Given the description of an element on the screen output the (x, y) to click on. 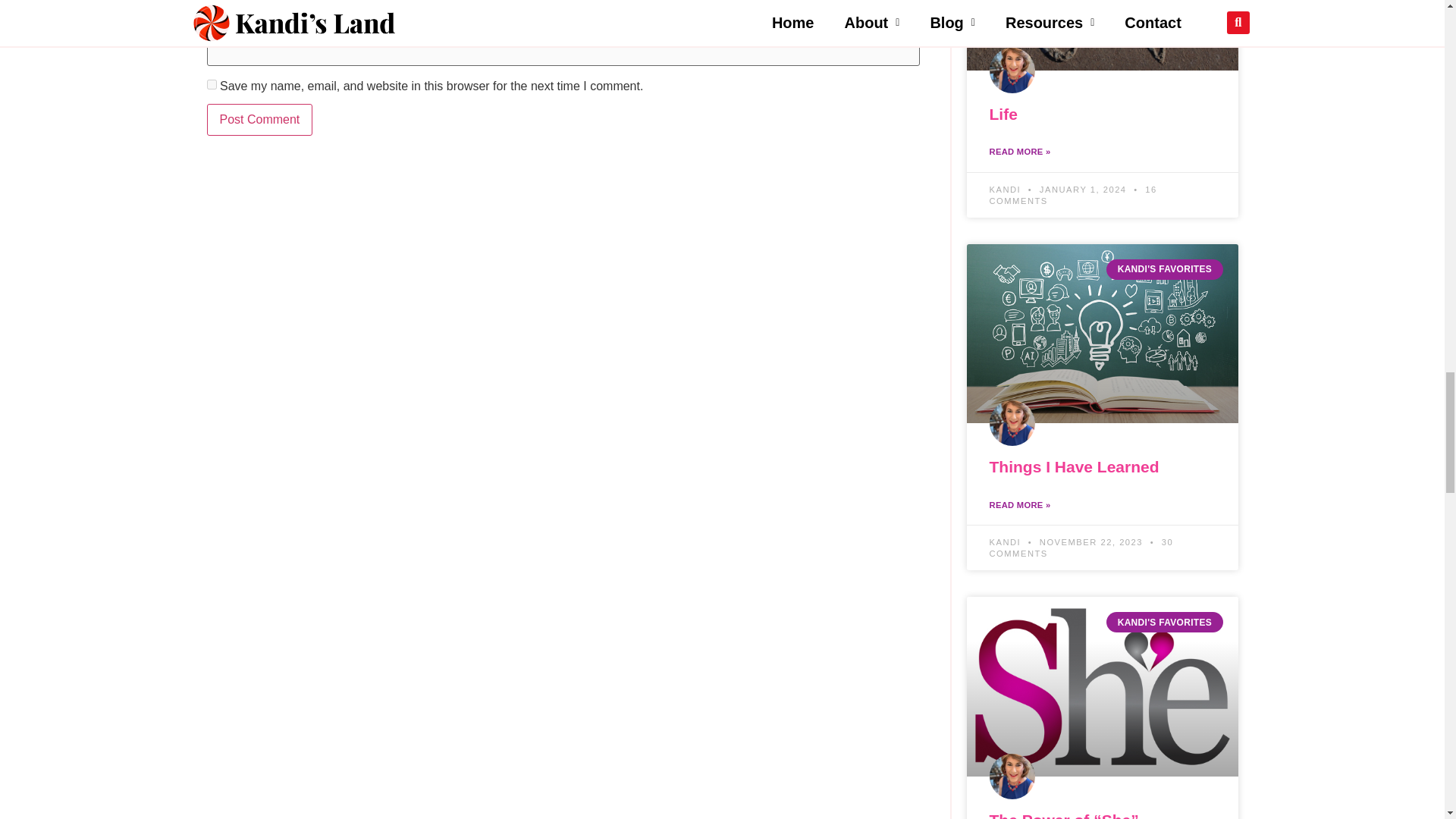
yes (210, 84)
Post Comment (259, 119)
